Given the description of an element on the screen output the (x, y) to click on. 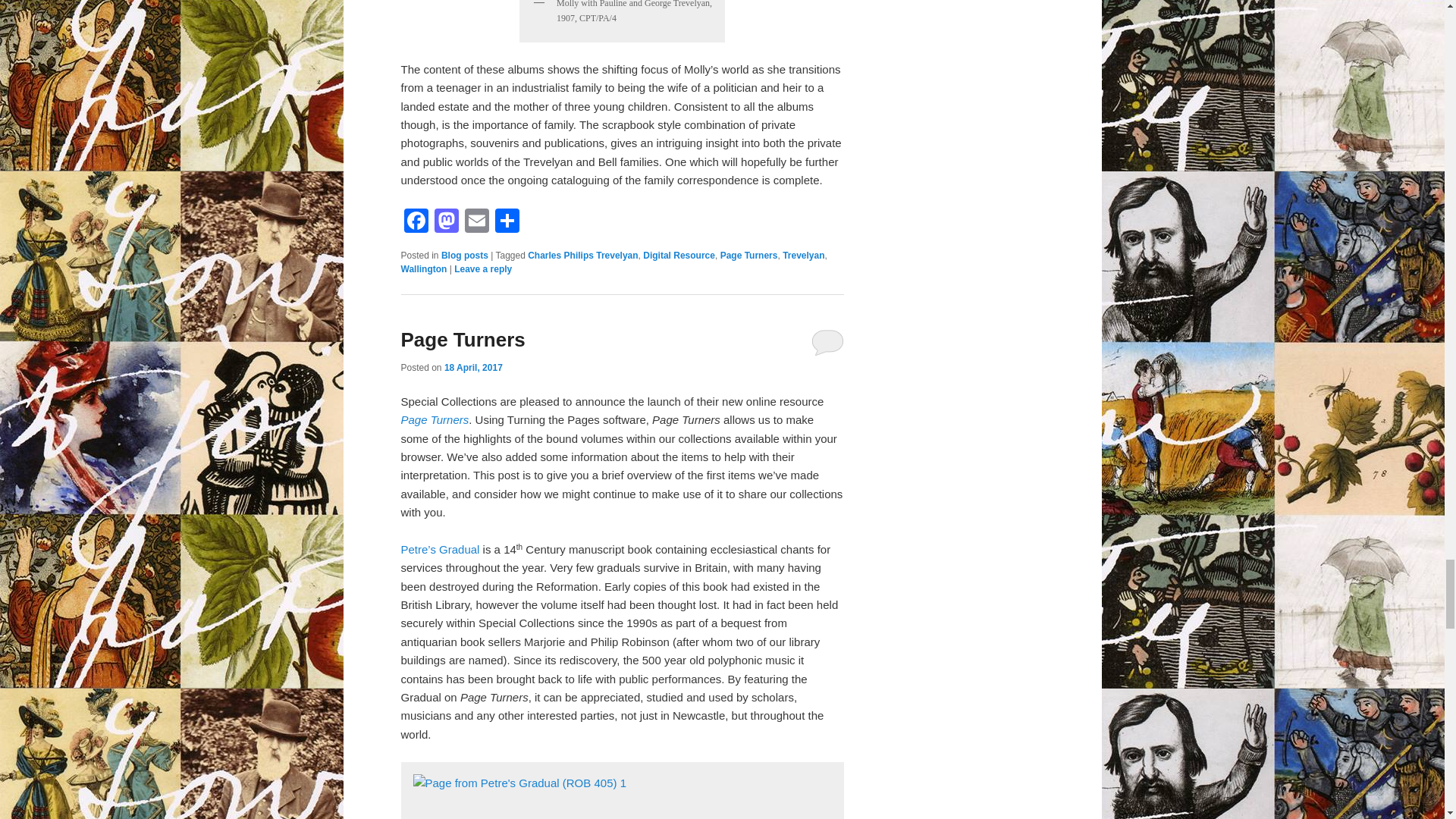
Facebook (415, 222)
Facebook (415, 222)
Mastodon (445, 222)
2:00 pm (473, 367)
Email (476, 222)
